Given the description of an element on the screen output the (x, y) to click on. 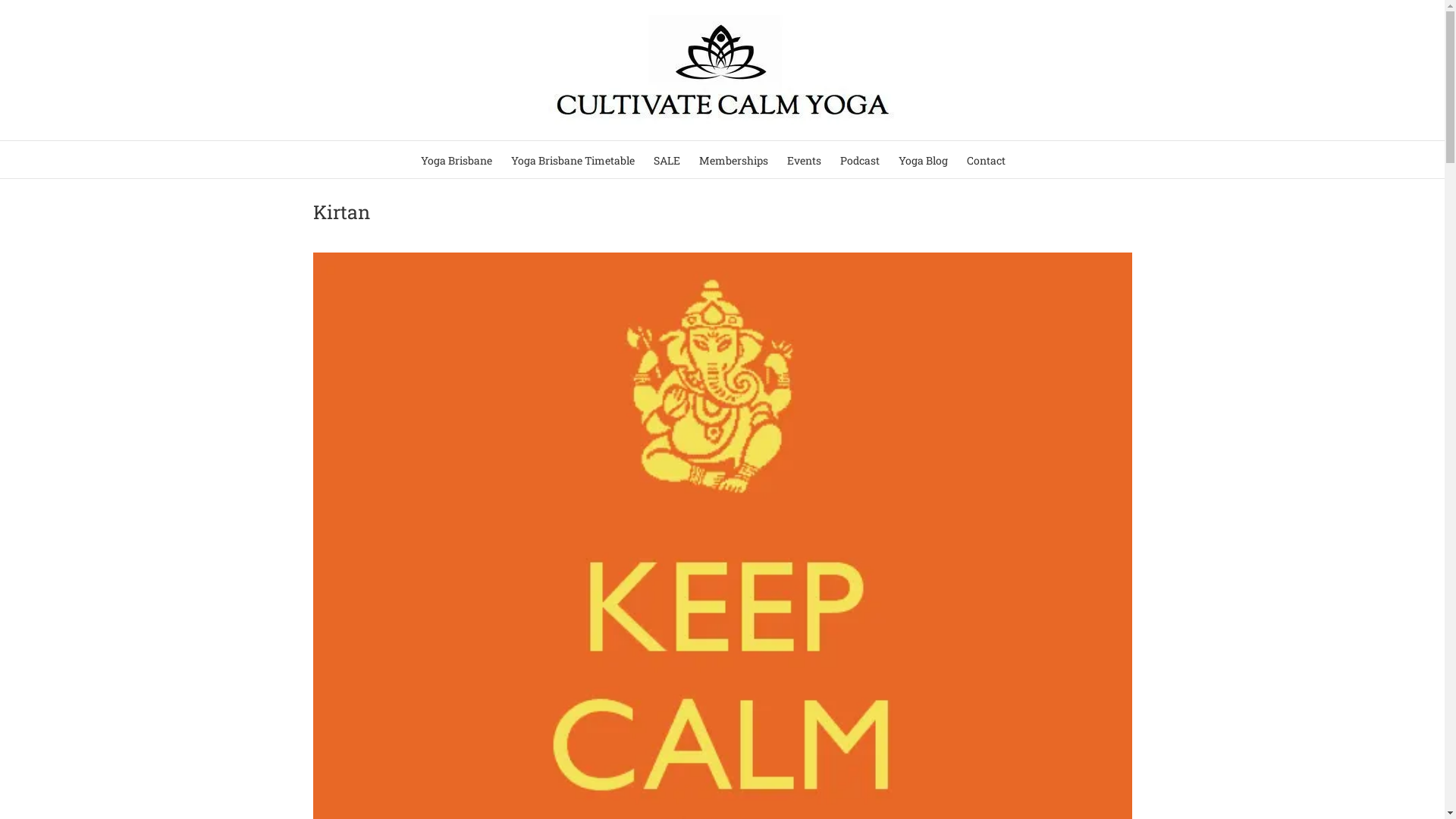
Podcast Element type: text (859, 159)
Events Element type: text (804, 159)
Contact Element type: text (985, 159)
Memberships Element type: text (733, 159)
SALE Element type: text (666, 159)
Yoga Brisbane Timetable Element type: text (572, 159)
Yoga Blog Element type: text (922, 159)
Yoga Brisbane Element type: text (455, 159)
